Given the description of an element on the screen output the (x, y) to click on. 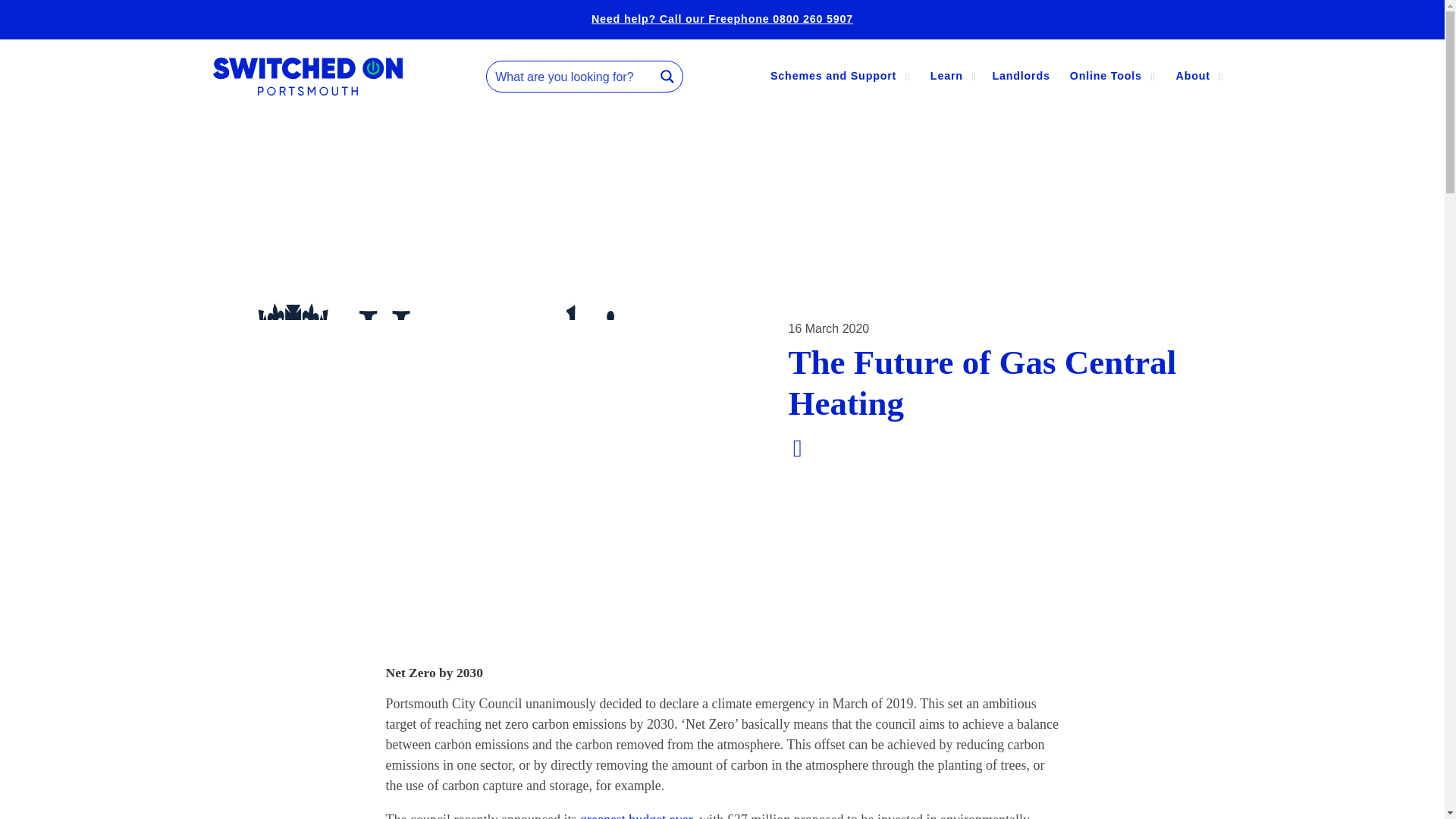
Learn (940, 76)
About (1186, 76)
Online Tools (1099, 76)
Need help? Call our Freephone 0800 260 5907 (721, 19)
Landlords (1020, 76)
Schemes and Support (827, 76)
